Given the description of an element on the screen output the (x, y) to click on. 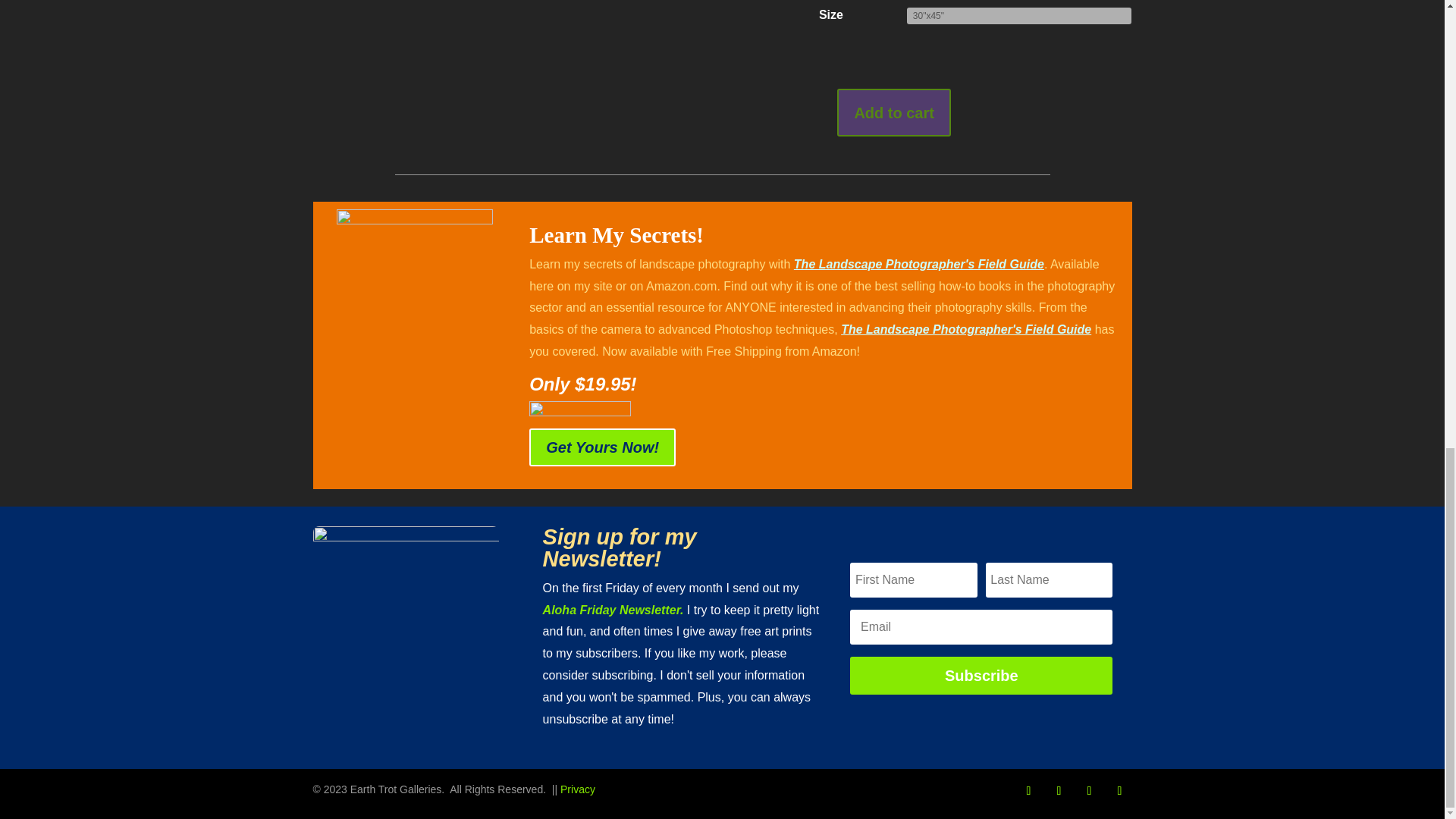
Subscribe (981, 675)
Get Yours Now! (602, 447)
Follow on Facebook (1028, 790)
The Landscape Photographer's Field Guide (965, 328)
Mike Neubauer (406, 619)
Add to cart (893, 112)
Privacy (577, 788)
Follow on Youtube (1118, 790)
Follow on Instagram (1058, 790)
The Landscape Photographer's Field Guide (918, 264)
